Given the description of an element on the screen output the (x, y) to click on. 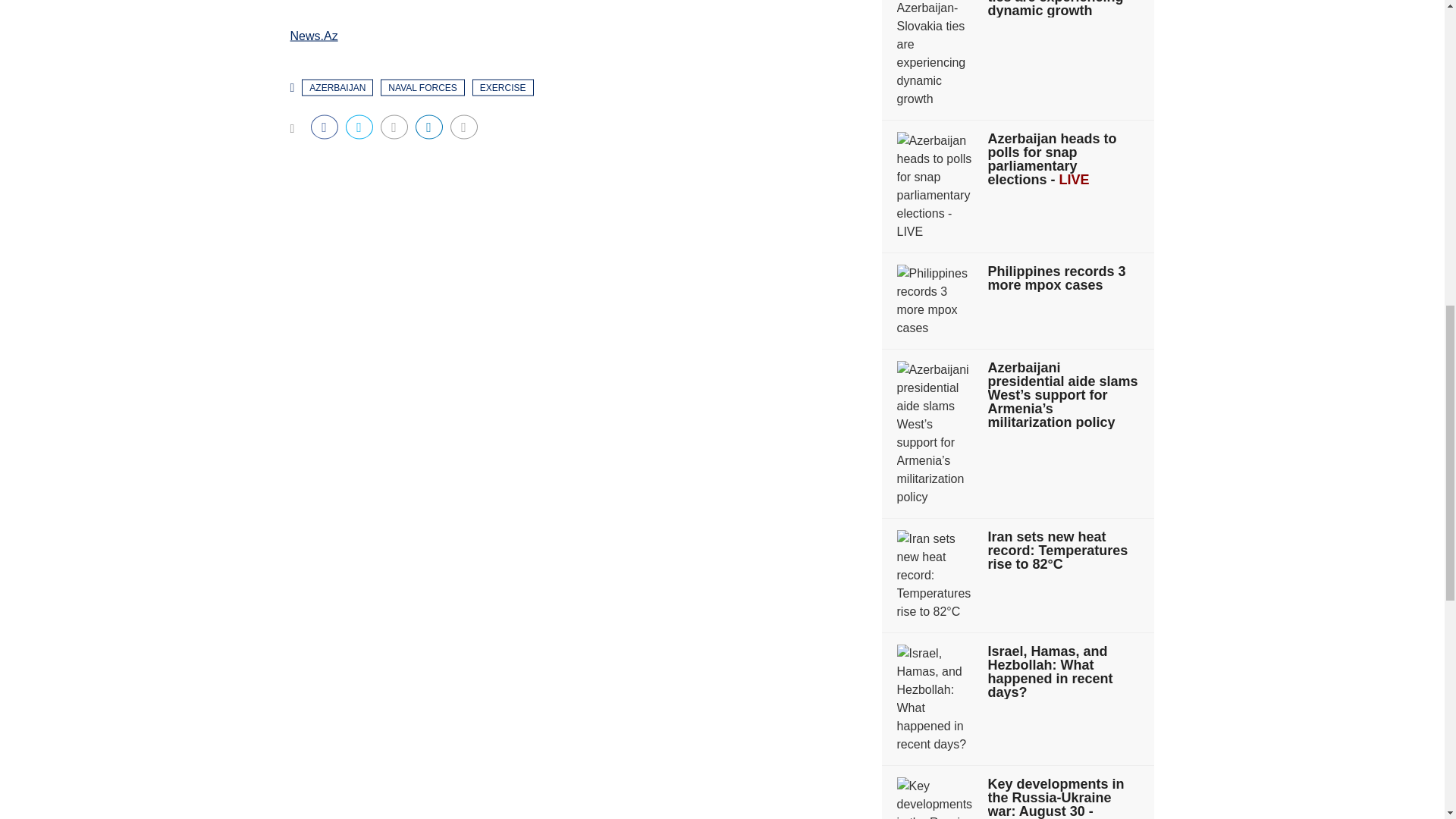
NAVAL FORCES (422, 86)
AZERBAIJAN (336, 86)
News.Az (313, 34)
EXERCISE (502, 86)
Share news on Facebook (324, 126)
Share news on Twitter (359, 126)
